Given the description of an element on the screen output the (x, y) to click on. 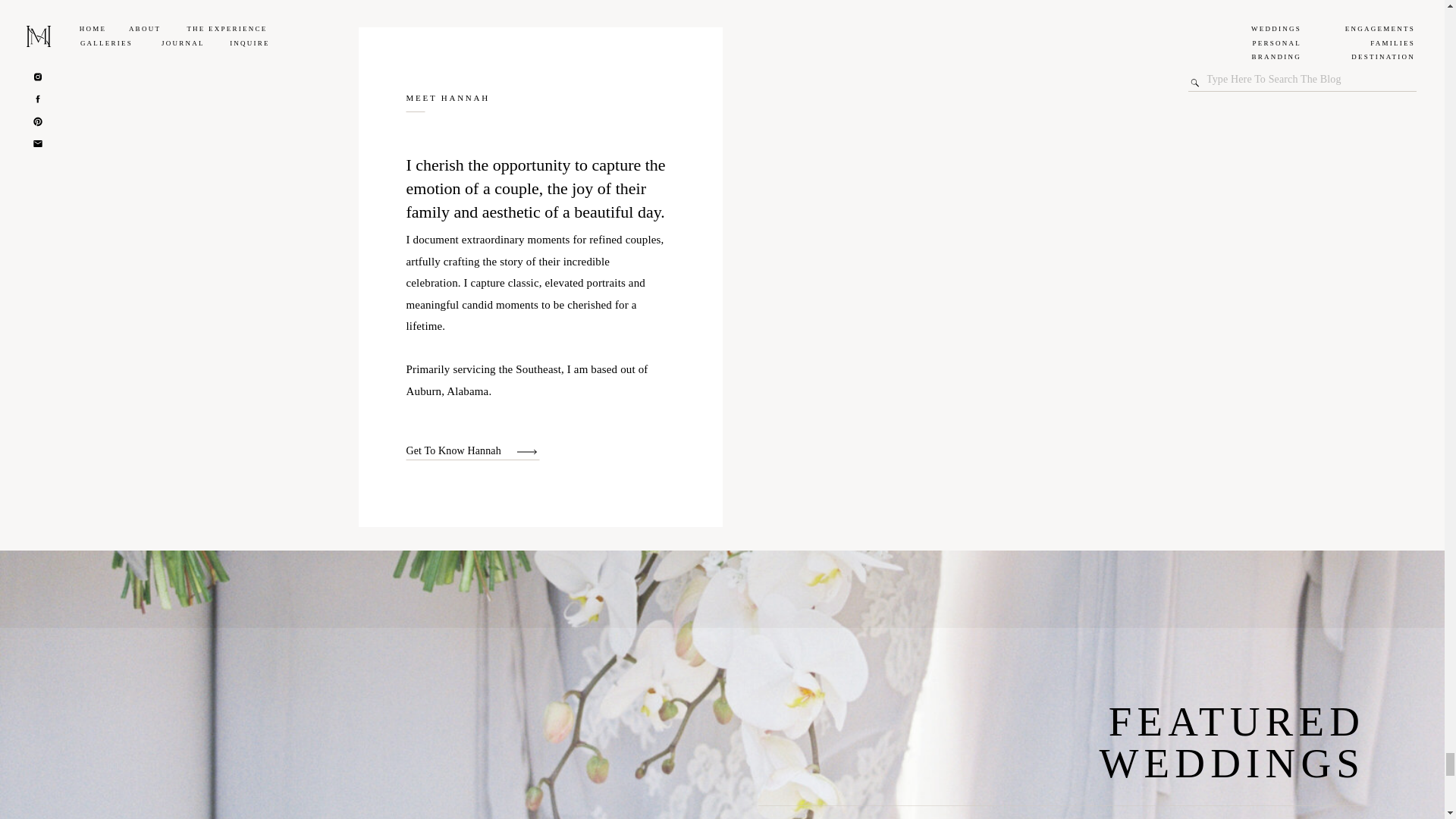
Get To Know Hannah (461, 449)
